Given the description of an element on the screen output the (x, y) to click on. 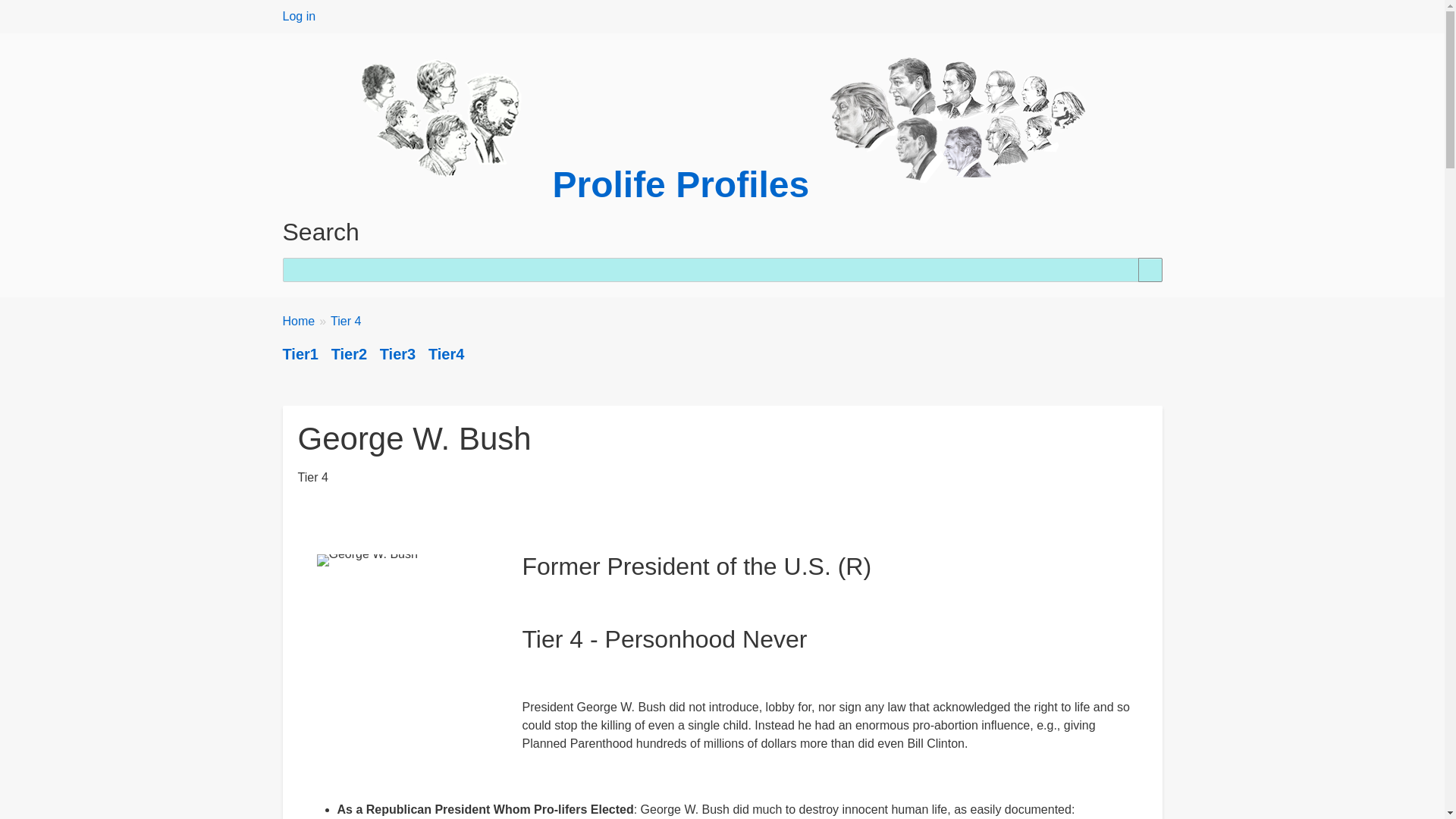
Search (1149, 269)
Prolife Profiles (680, 184)
Search (1149, 269)
Tier1 (299, 353)
Log in (298, 16)
Search (1149, 269)
Enter the terms you wish to search for. (721, 269)
Tier3 (397, 353)
Tier2 (348, 353)
Tier 4 (345, 321)
